Given the description of an element on the screen output the (x, y) to click on. 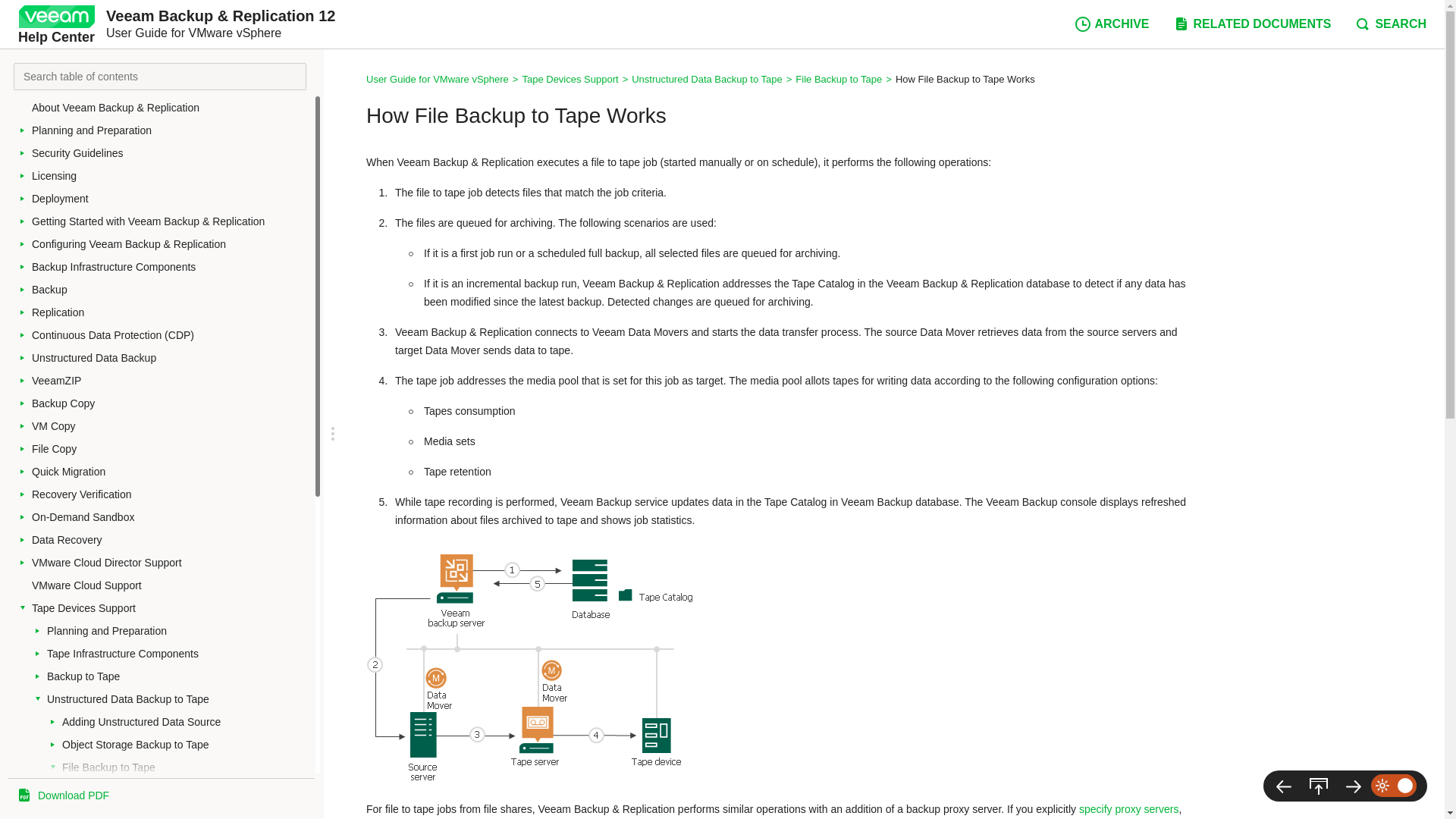
SEARCH (1390, 24)
RELATED DOCUMENTS (1252, 24)
ARCHIVE (1112, 24)
Planning and Preparation (171, 129)
Security Guidelines (171, 152)
Security Guidelines (171, 152)
Planning and Preparation (171, 129)
Help Center (55, 23)
